Given the description of an element on the screen output the (x, y) to click on. 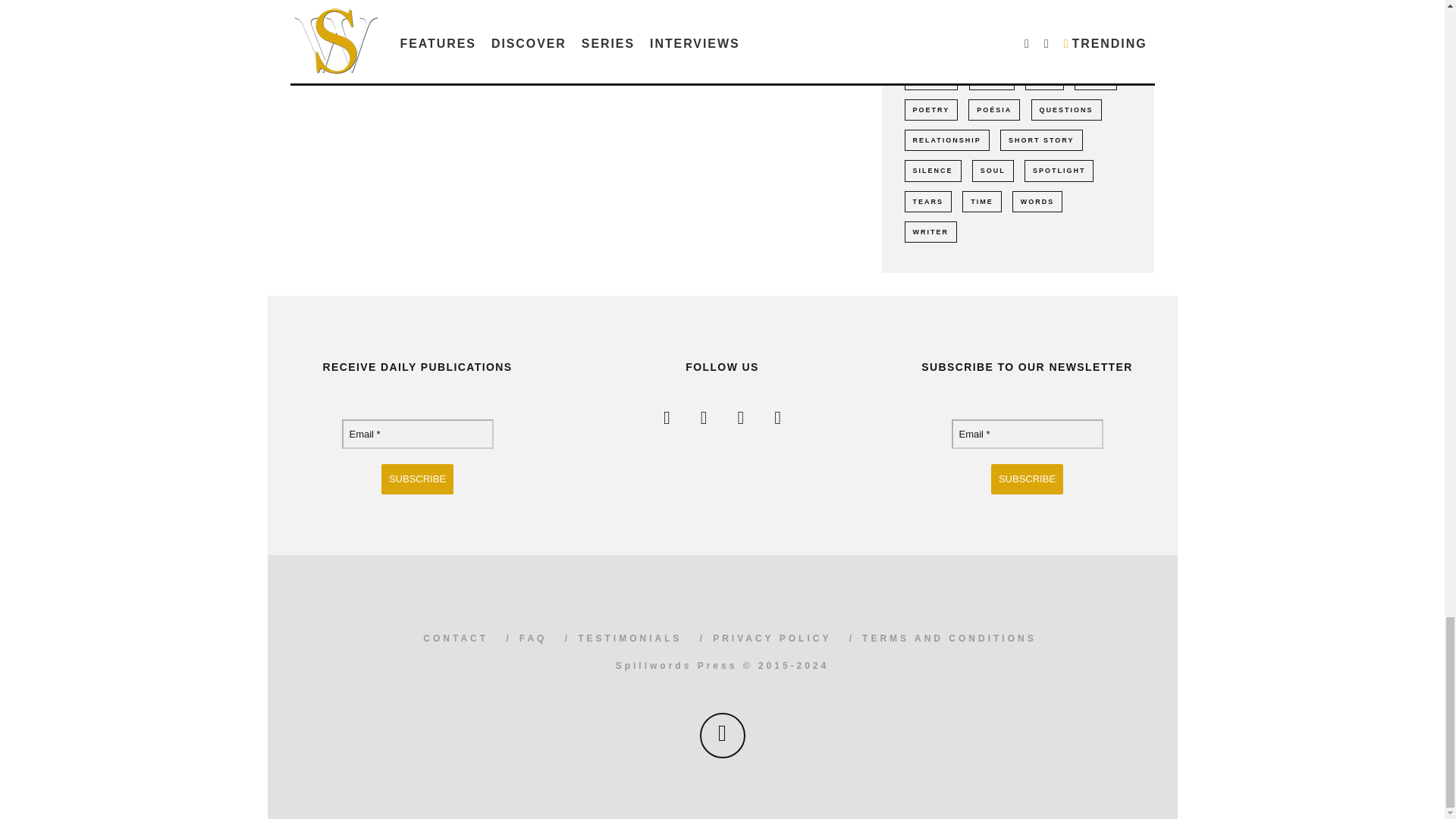
Email (1026, 434)
Subscribe (416, 479)
Email (416, 434)
Subscribe (1026, 479)
